Given the description of an element on the screen output the (x, y) to click on. 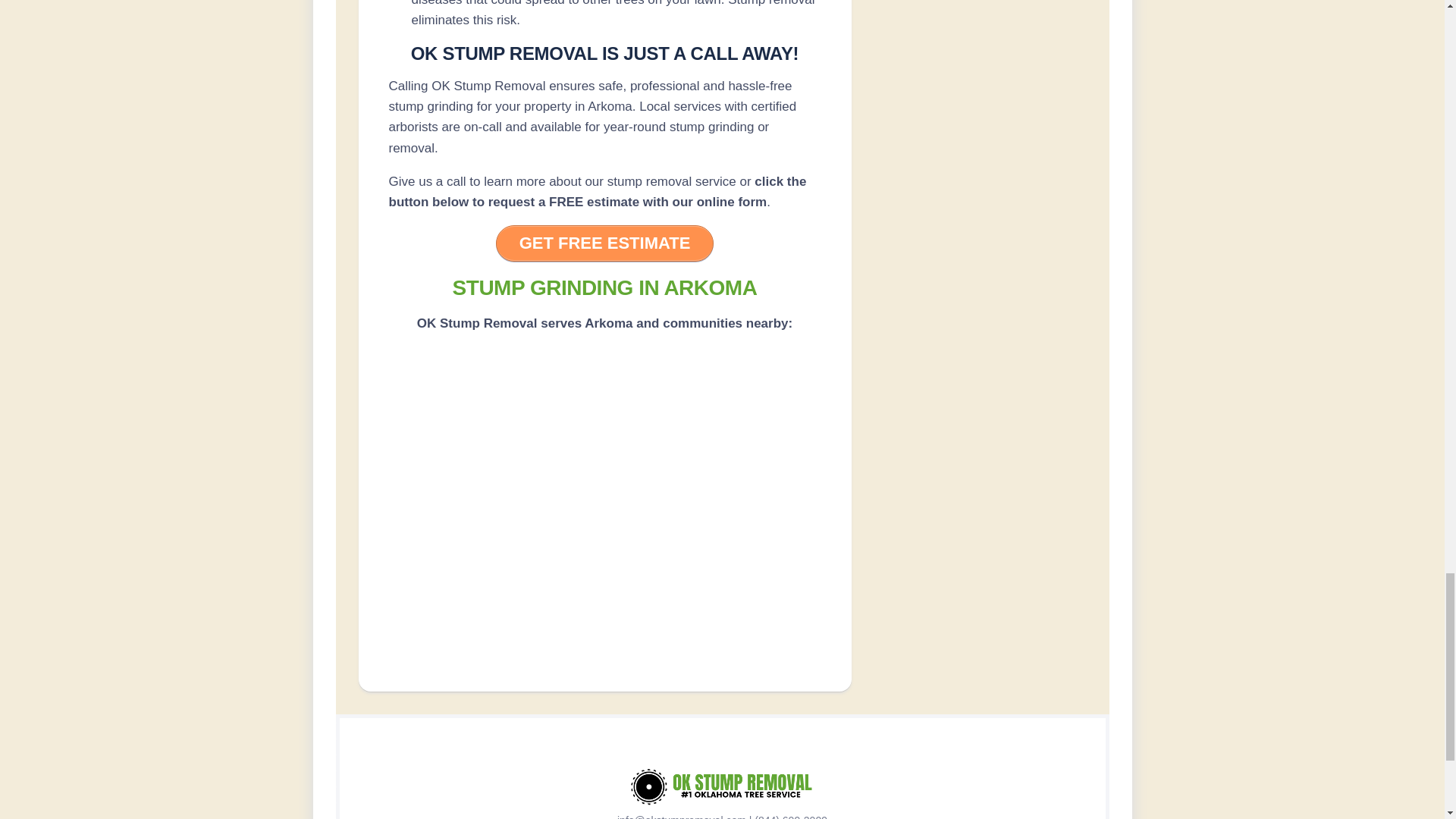
GET FREE ESTIMATE (605, 243)
